Given the description of an element on the screen output the (x, y) to click on. 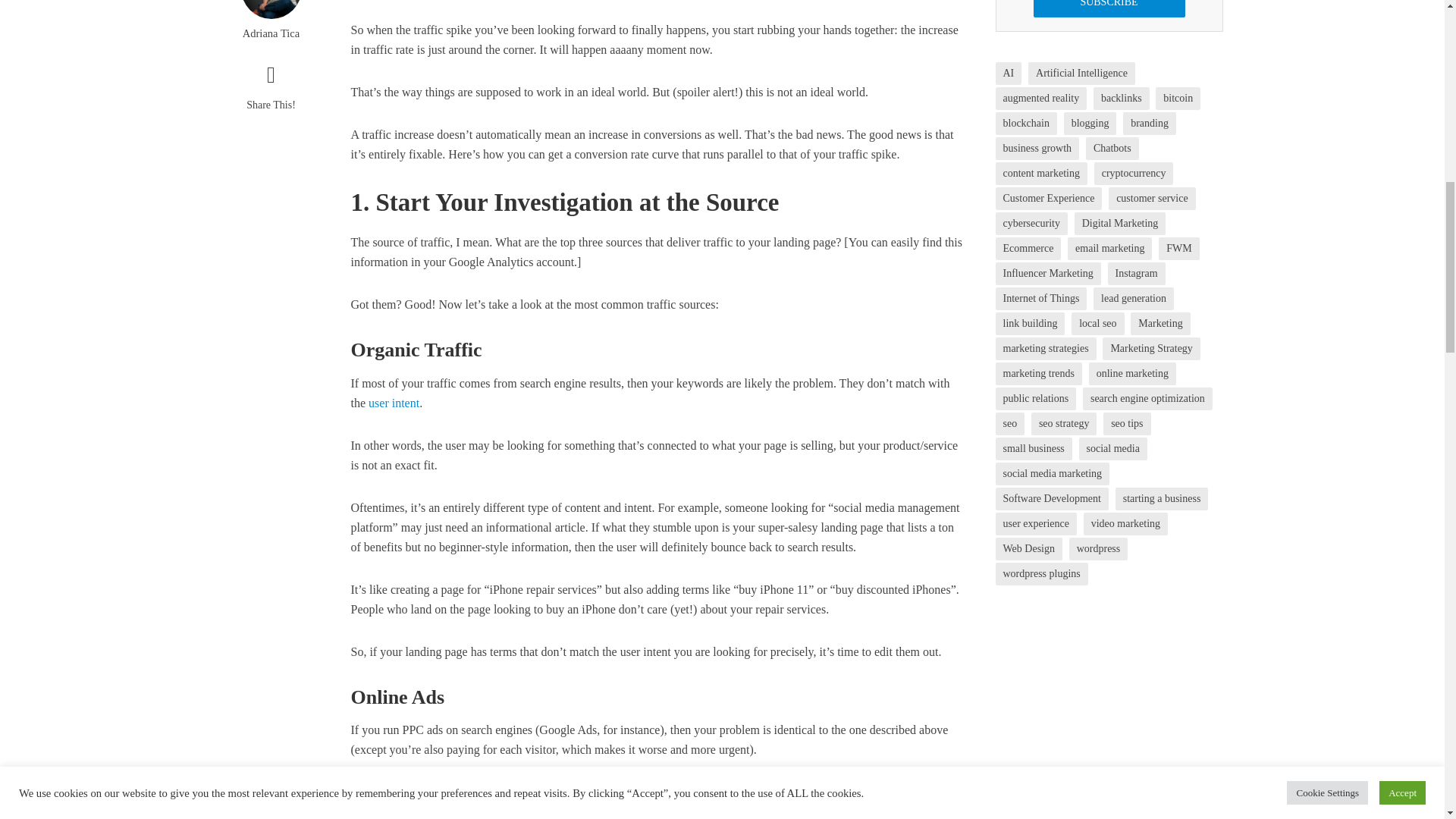
Subscribe (1108, 8)
